Given the description of an element on the screen output the (x, y) to click on. 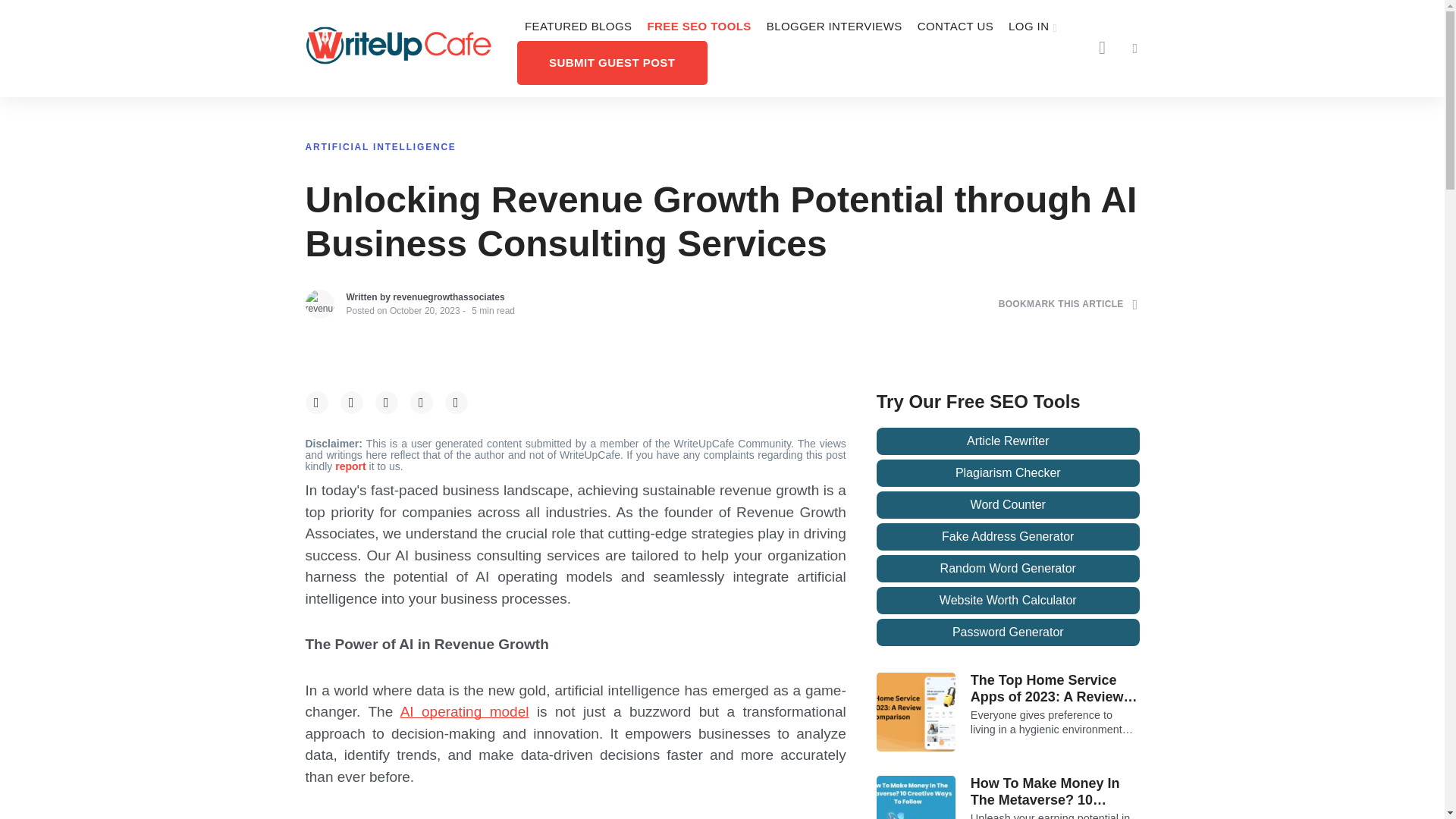
BOOKMARK THIS ARTICLE (1068, 303)
FREE SEO TOOLS (698, 26)
SUBMIT GUEST POST (611, 62)
FEATURED BLOGS (577, 26)
FEATURED BLOGS (577, 26)
CONTACT US (955, 26)
CONTACT US (955, 26)
BLOGGER INTERVIEWS (834, 26)
LOG IN (1032, 26)
BLOGGER INTERVIEWS (834, 26)
revenuegrowthassociates (448, 296)
SUBMIT GUEST POST (611, 62)
report (351, 466)
FREE SEO TOOLS (698, 26)
AI operating model (464, 711)
